Given the description of an element on the screen output the (x, y) to click on. 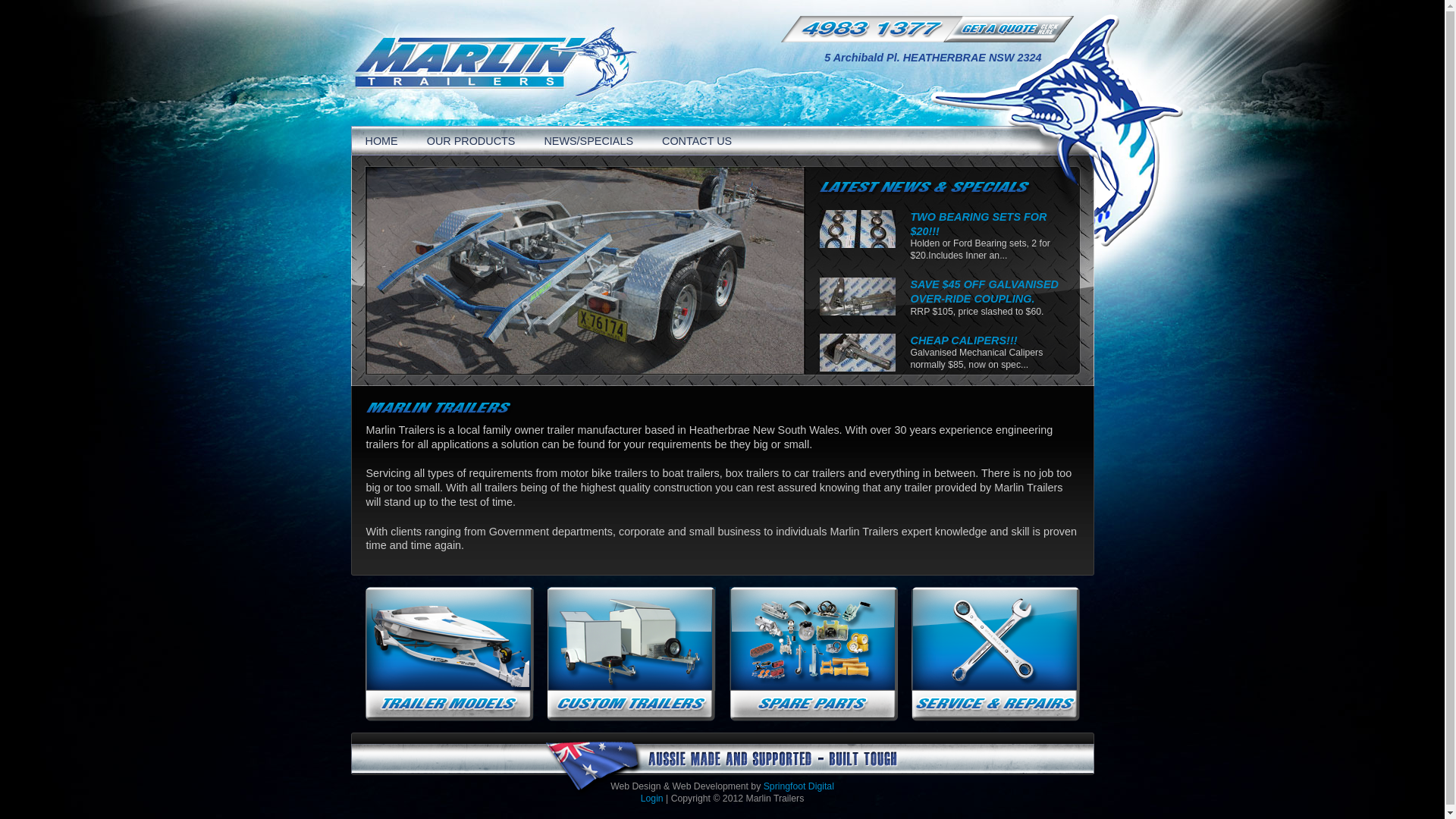
Two Bearing sets for $20!!! Element type: hover (856, 228)
Login Element type: text (651, 798)
Services/Repairs Element type: hover (995, 653)
TWO BEARING SETS FOR $20!!! Element type: text (978, 223)
NEWS/SPECIALS Element type: text (588, 140)
OUR PRODUCTS Element type: text (471, 140)
CONTACT US Element type: text (696, 140)
Cheap Calipers!!! Element type: hover (856, 352)
Our Products Element type: hover (449, 653)
Spare Parts Element type: hover (813, 653)
HOME Element type: text (380, 140)
Save $45 off Galvanised Over-ride Coupling. Element type: hover (856, 296)
Slide - Slide 2 Element type: hover (584, 270)
Web Development Element type: text (710, 786)
CHEAP CALIPERS!!! Element type: text (963, 340)
Custom Trailers Element type: hover (631, 653)
SAVE $45 OFF GALVANISED OVER-RIDE COUPLING. Element type: text (983, 291)
Web Design Element type: text (635, 786)
Springfoot Digital Element type: text (798, 786)
